Given the description of an element on the screen output the (x, y) to click on. 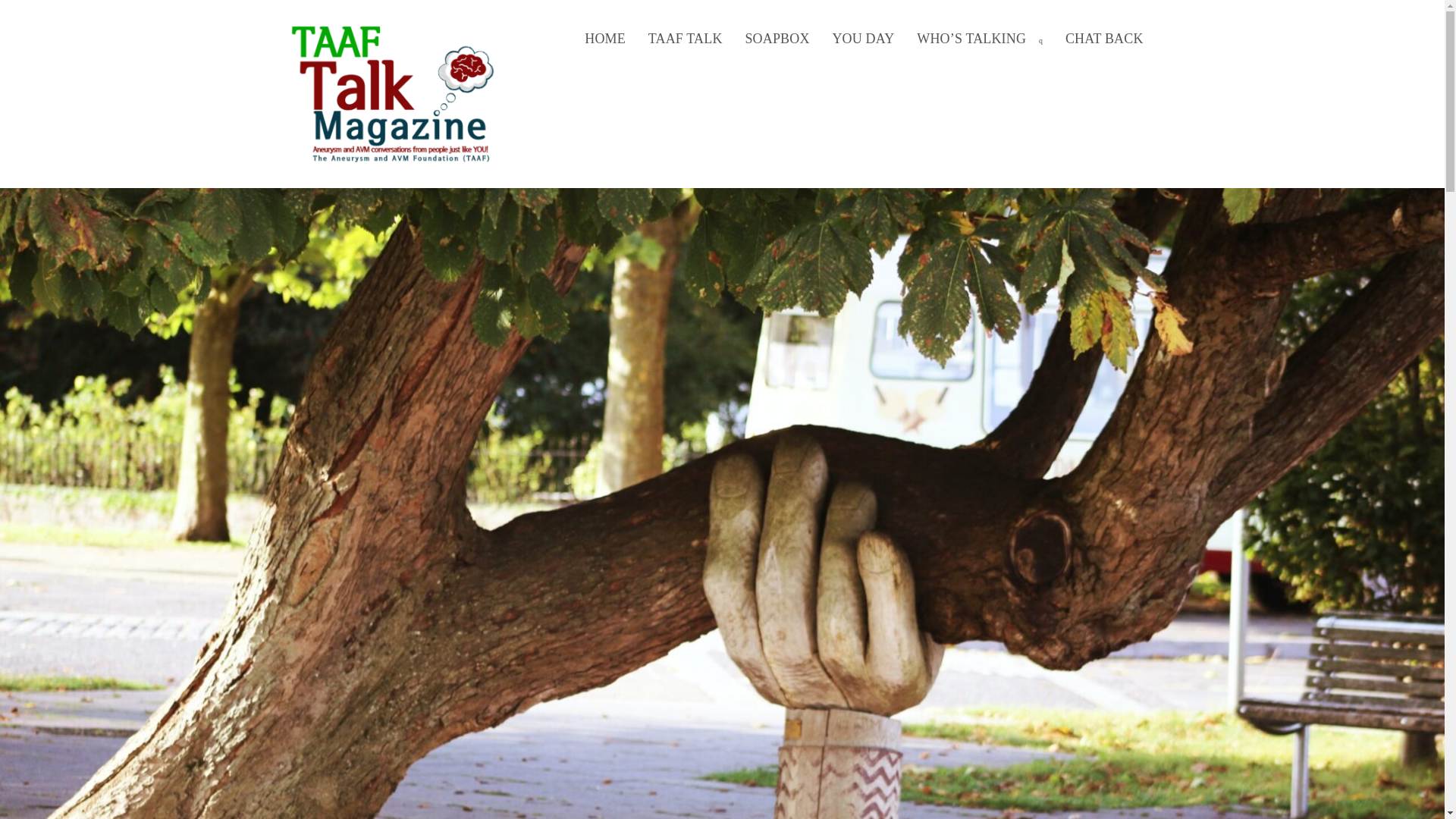
TAAF TALK (685, 38)
YOU DAY (863, 38)
CHAT BACK (1104, 38)
SOAPBOX (777, 38)
HOME (605, 38)
